Given the description of an element on the screen output the (x, y) to click on. 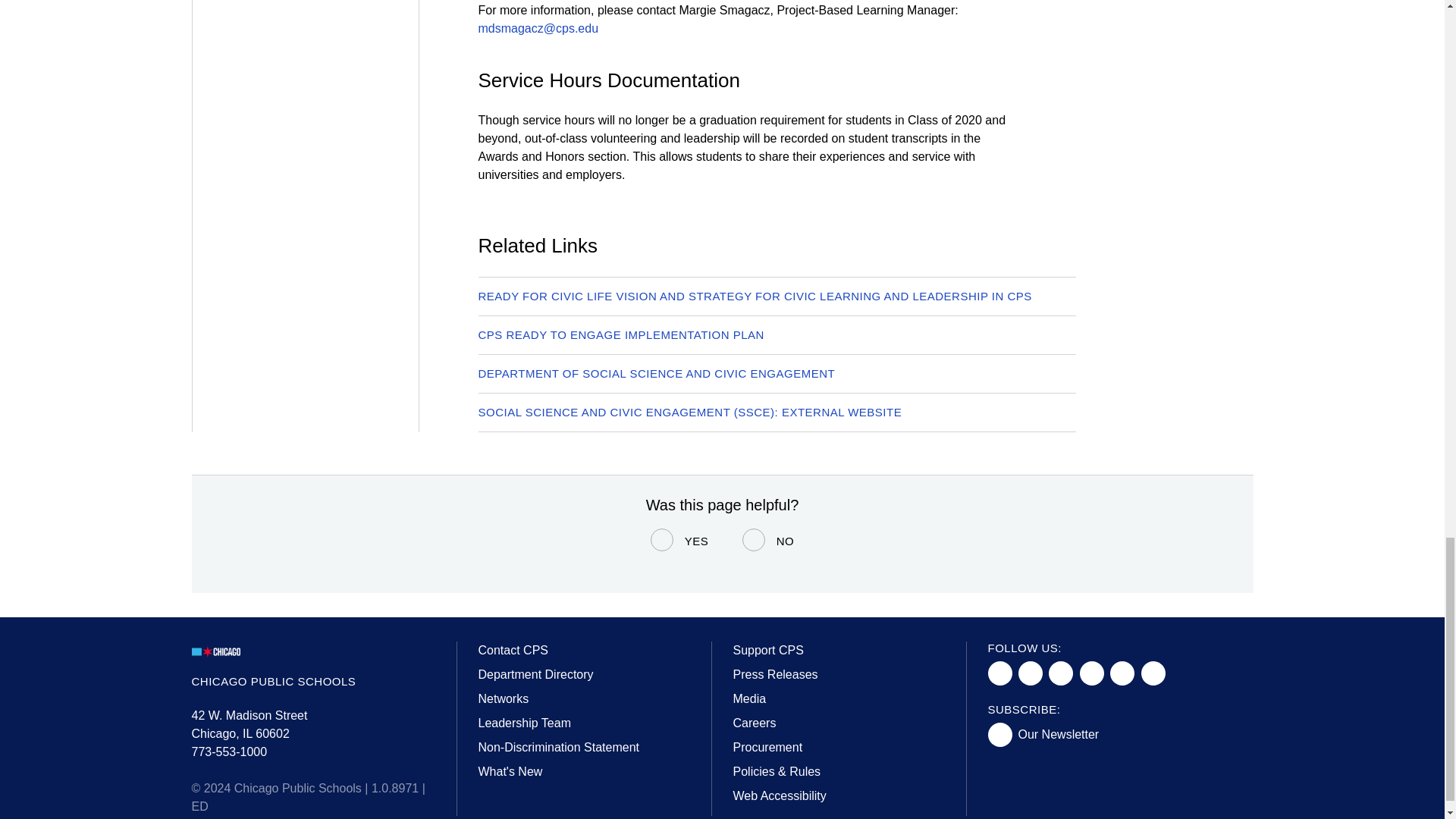
Department of Social Science and Civic Engagement (655, 373)
Our Newsletter (1046, 734)
